Given the description of an element on the screen output the (x, y) to click on. 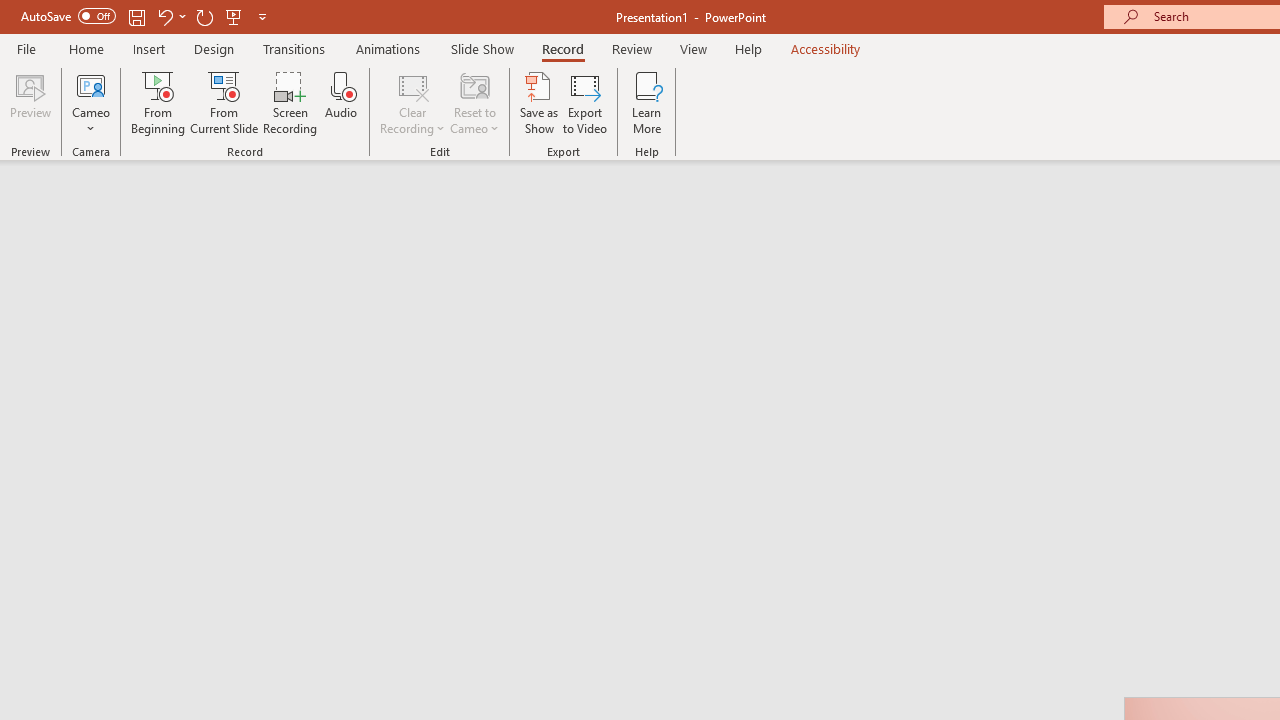
Screen Recording (290, 102)
From Beginning... (158, 102)
Clear Recording (412, 102)
Reset to Cameo (474, 102)
From Current Slide... (224, 102)
